Given the description of an element on the screen output the (x, y) to click on. 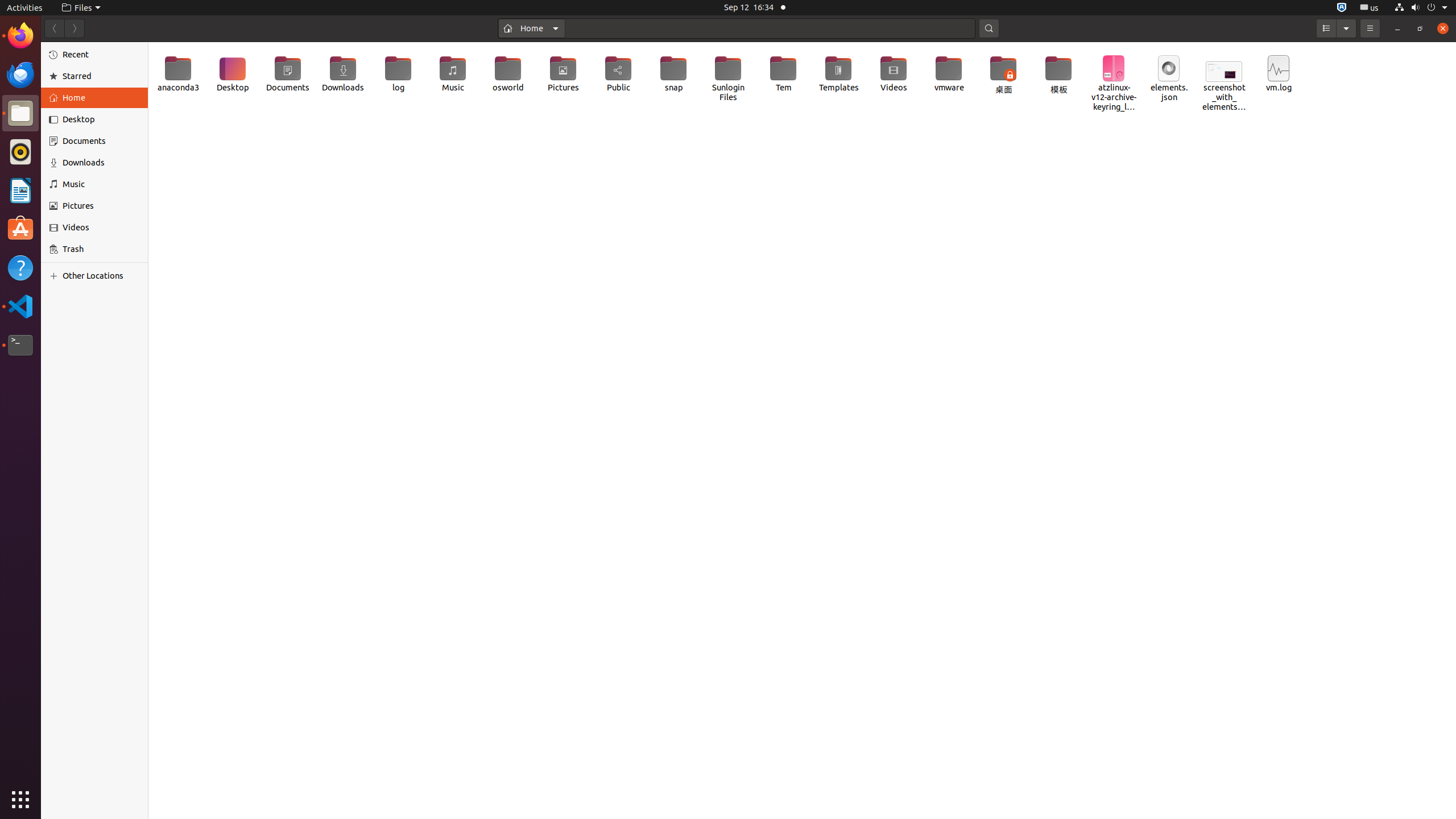
Pictures Element type: label (100, 205)
Activities Element type: label (24, 7)
Music Element type: canvas (452, 73)
elements.json Element type: canvas (1168, 78)
Add Element type: icon (55, 275)
